Given the description of an element on the screen output the (x, y) to click on. 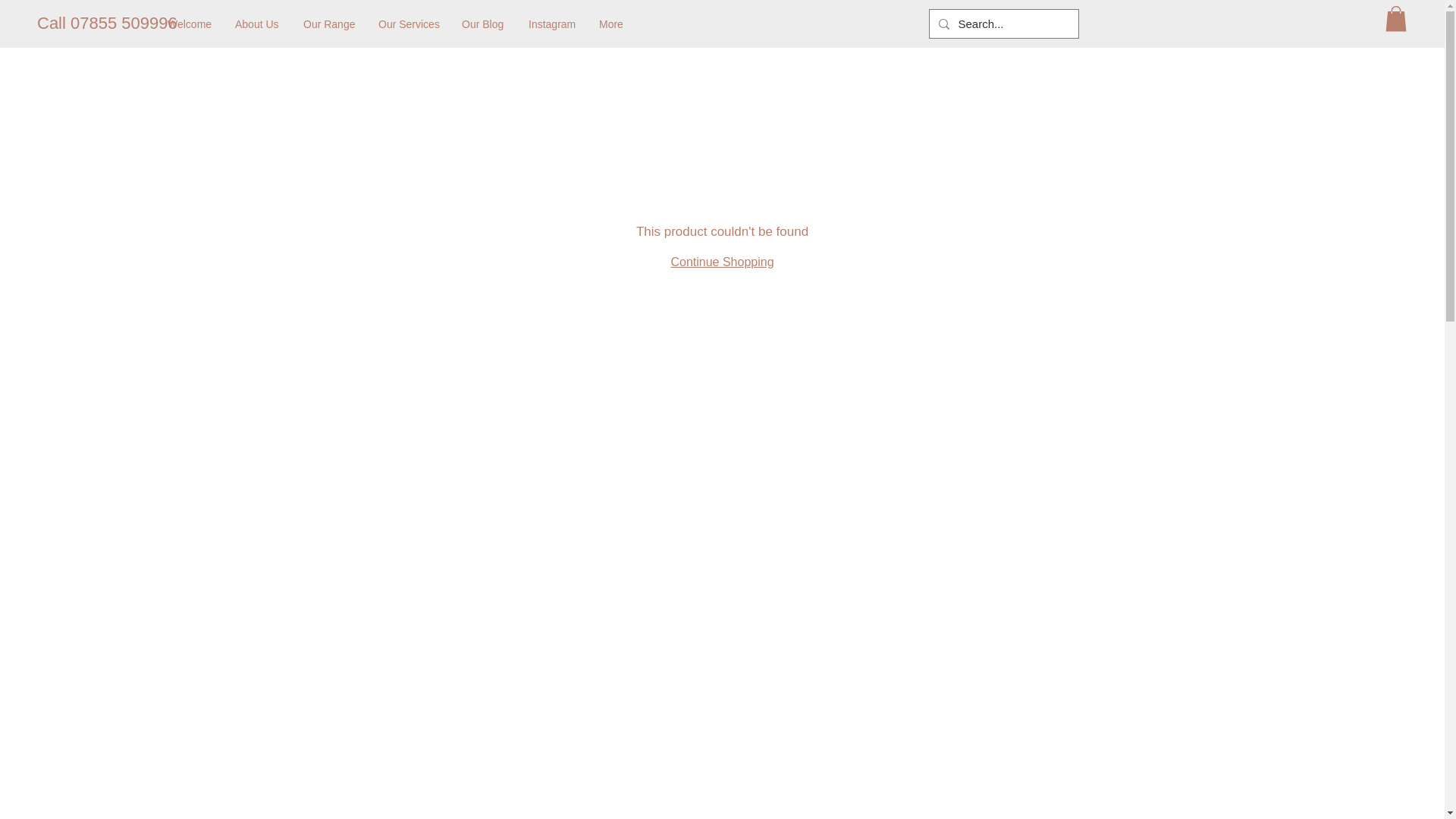
Instagram (552, 24)
Call 07855 509996 (107, 23)
About Us (258, 24)
Our Range (329, 24)
Our Blog (482, 24)
Continue Shopping (721, 261)
Welcome (189, 24)
